Given the description of an element on the screen output the (x, y) to click on. 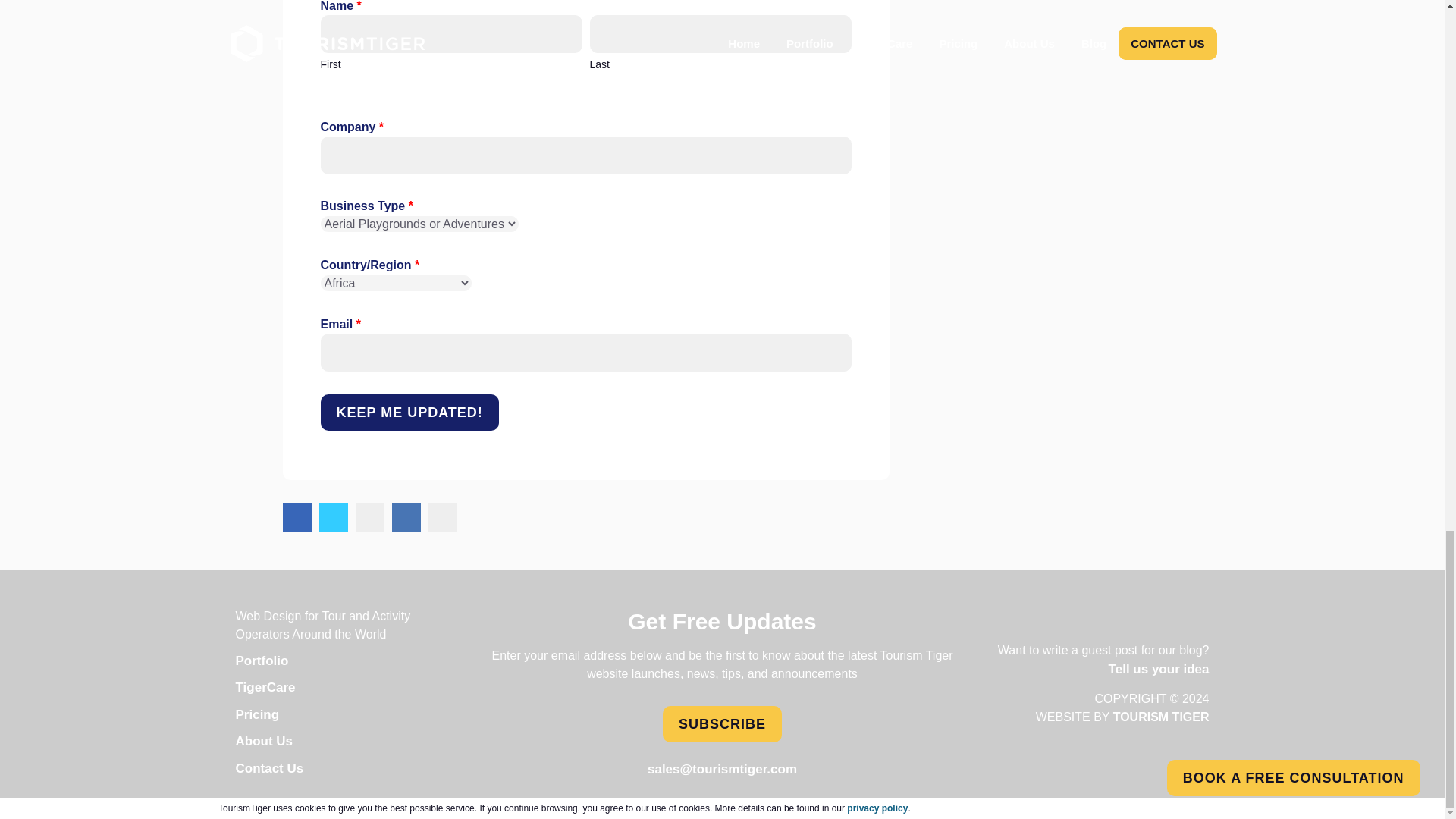
Share via google (442, 516)
Share via twitter (332, 516)
Share via instagram (369, 516)
Share via linkedin (405, 516)
Share via facebook (296, 516)
KEEP ME UPDATED! (408, 411)
